Given the description of an element on the screen output the (x, y) to click on. 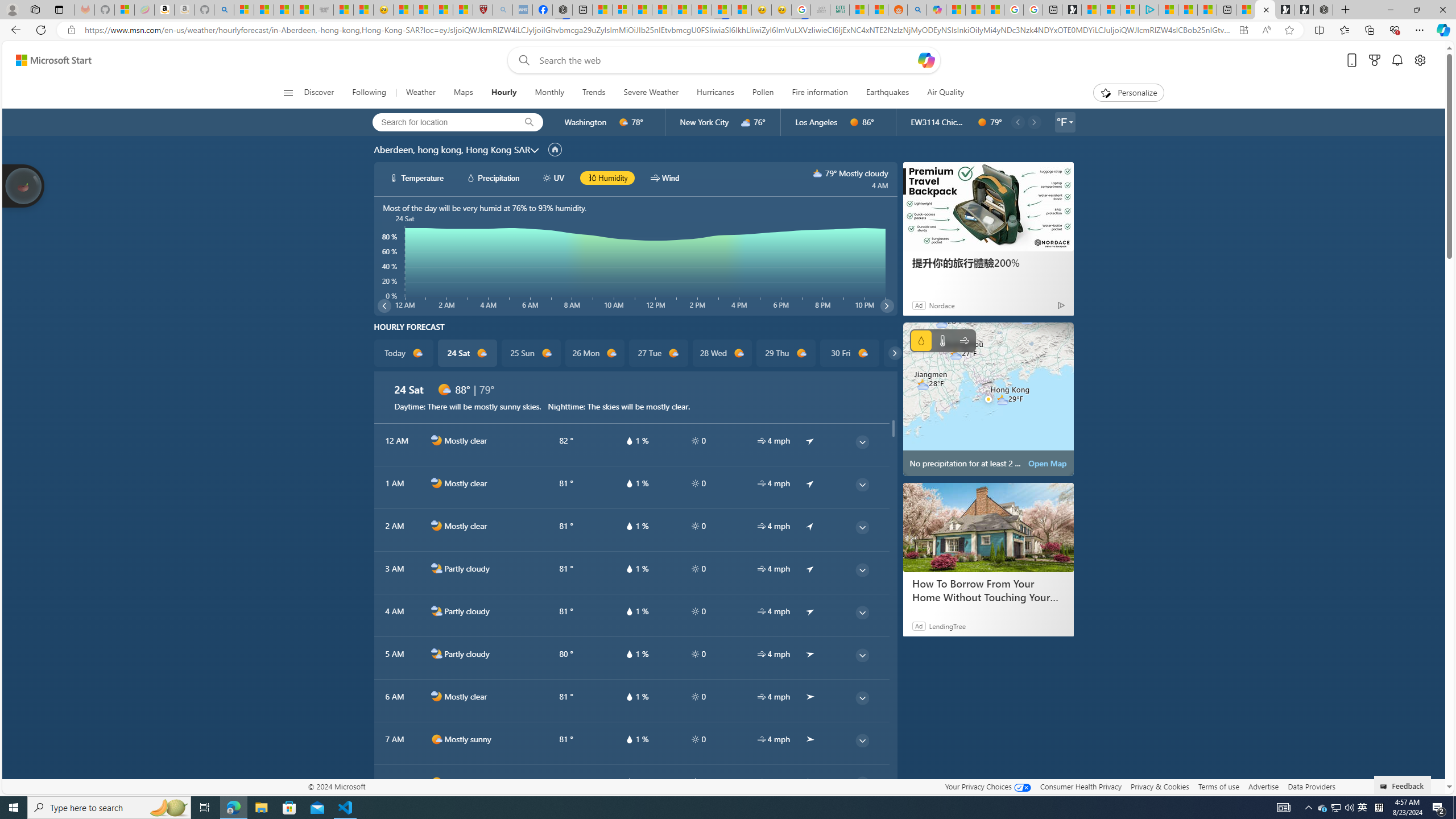
Earthquakes (888, 92)
App available. Install Microsoft Start Weather (1243, 29)
